Given the description of an element on the screen output the (x, y) to click on. 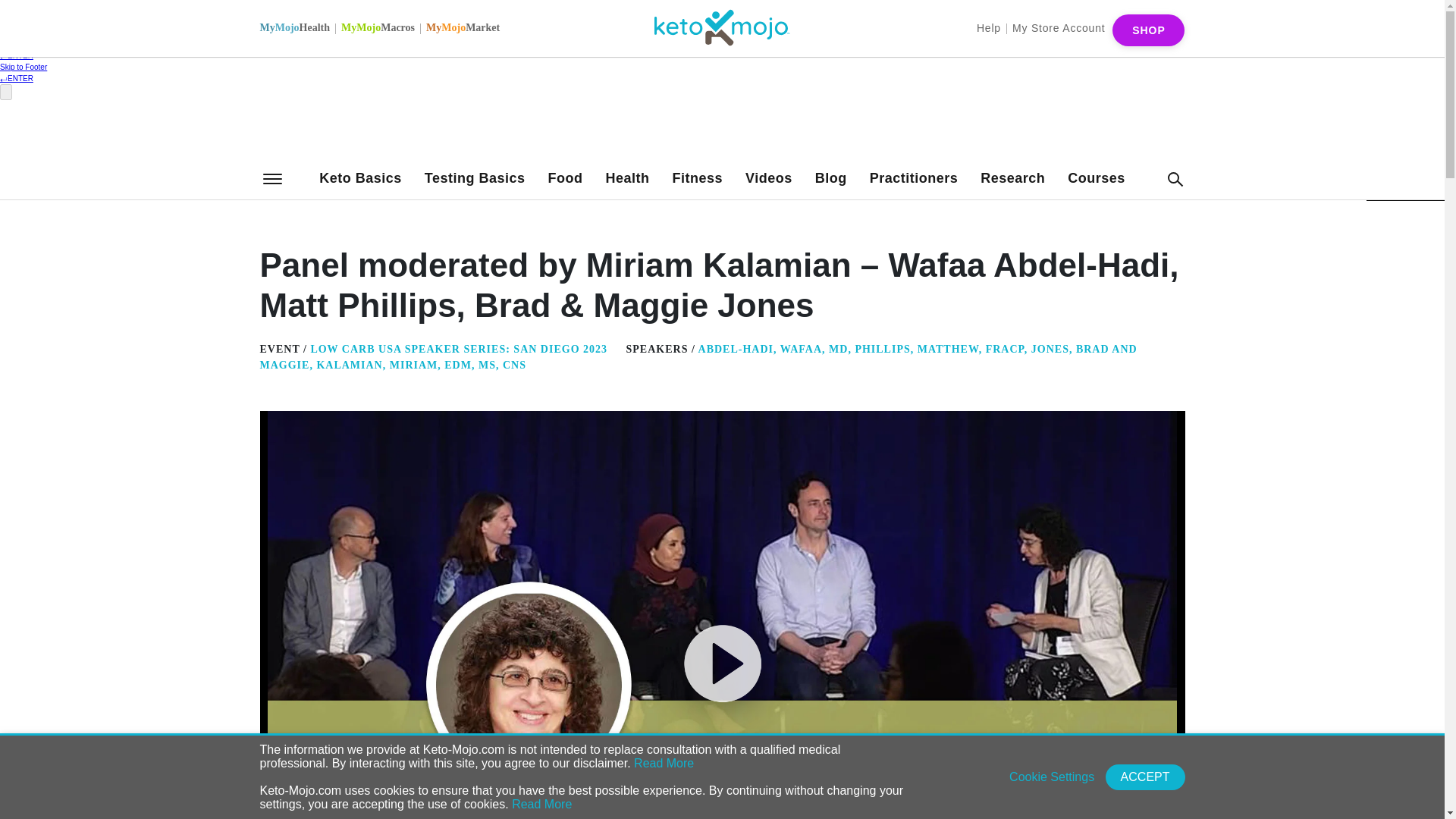
MyMojoHealth (294, 27)
My Store Account (1058, 27)
Help (988, 27)
Shop Keto-Mojo (1148, 29)
Keto-Mojo Help (988, 27)
MyMojoHealth (294, 27)
MyMojoMarket (462, 27)
My Store Account (1058, 27)
SHOP (1148, 29)
MyMojoMacros (377, 27)
MyMojoMarket (462, 27)
MyMojoMacros (377, 27)
